Given the description of an element on the screen output the (x, y) to click on. 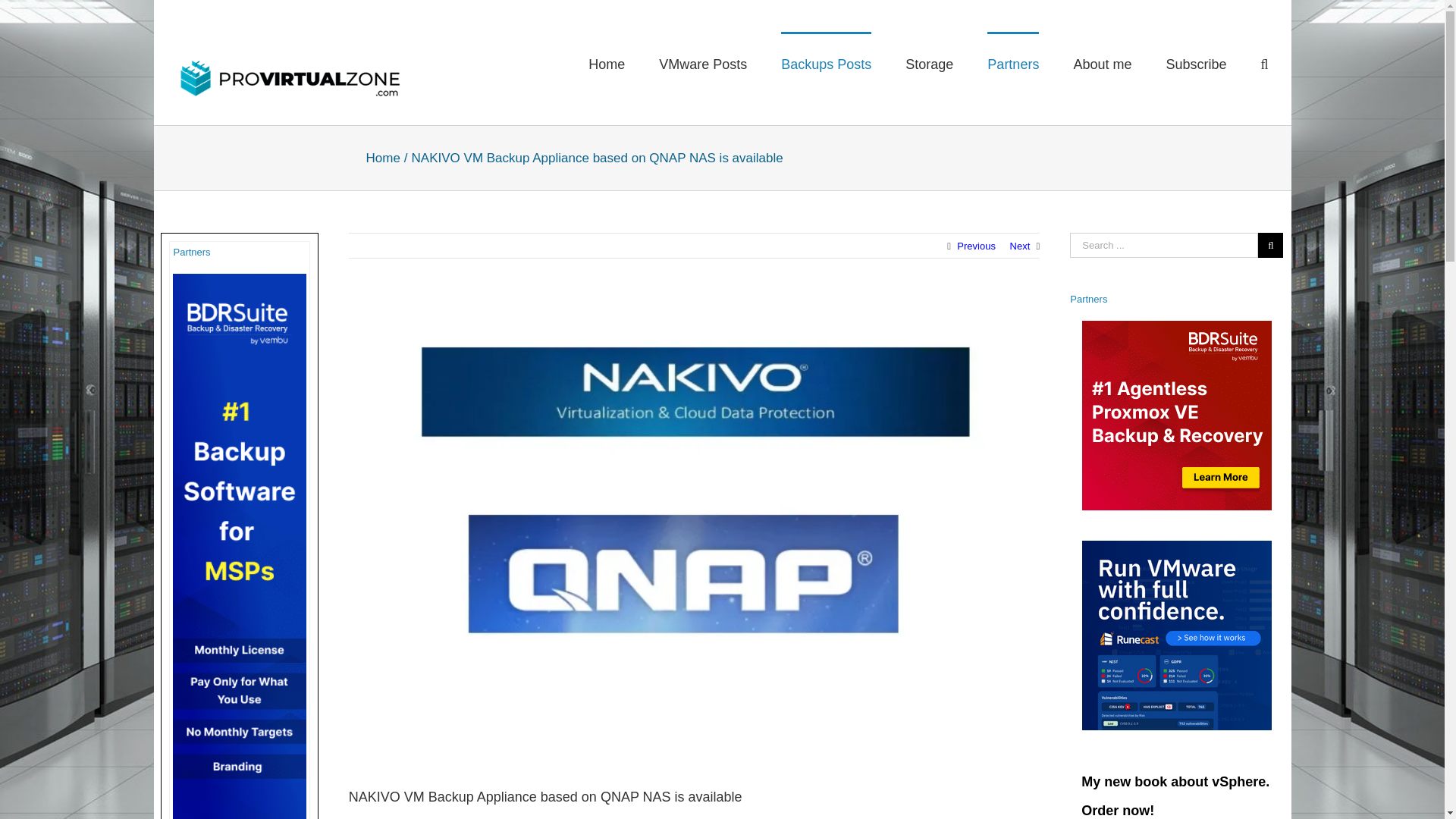
About me (1102, 63)
VMware Posts (702, 63)
Home (381, 156)
Backups Posts (825, 63)
Previous (975, 246)
Subscribe (1195, 63)
